Given the description of an element on the screen output the (x, y) to click on. 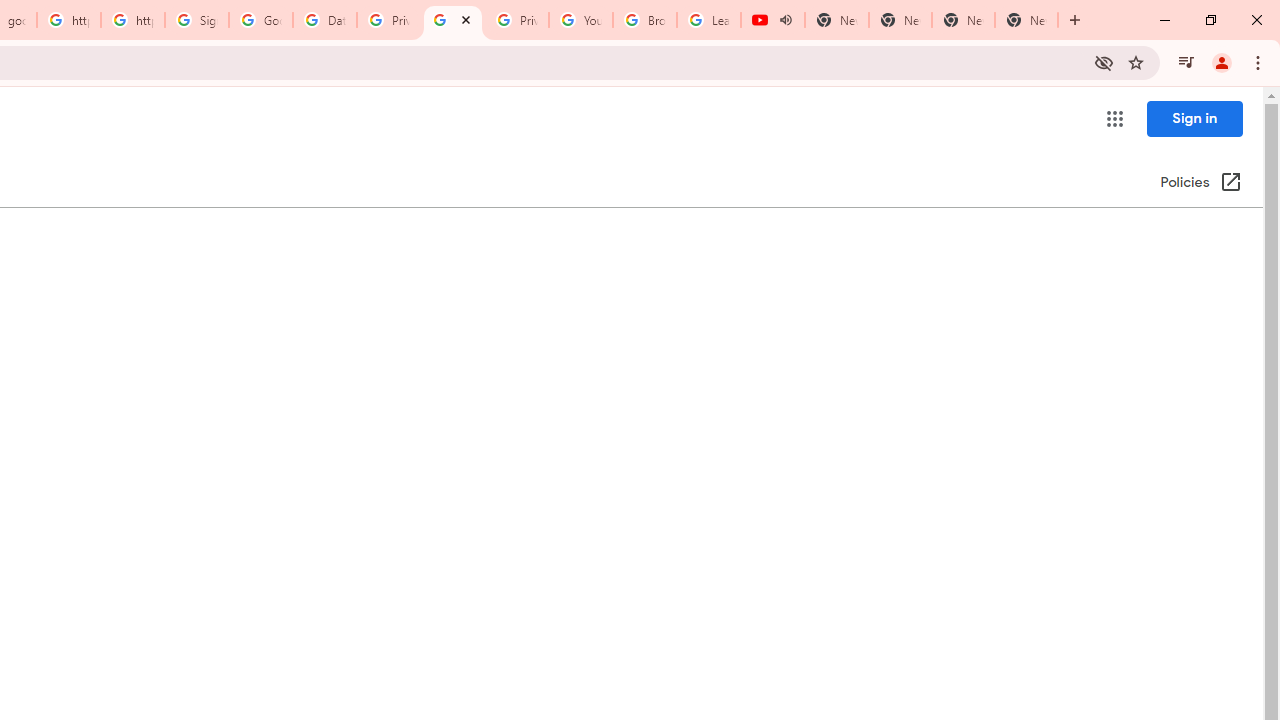
Privacy Help Center - Policies Help (453, 20)
https://scholar.google.com/ (133, 20)
Sign in - Google Accounts (197, 20)
Browse Chrome as a guest - Computer - Google Chrome Help (645, 20)
